Given the description of an element on the screen output the (x, y) to click on. 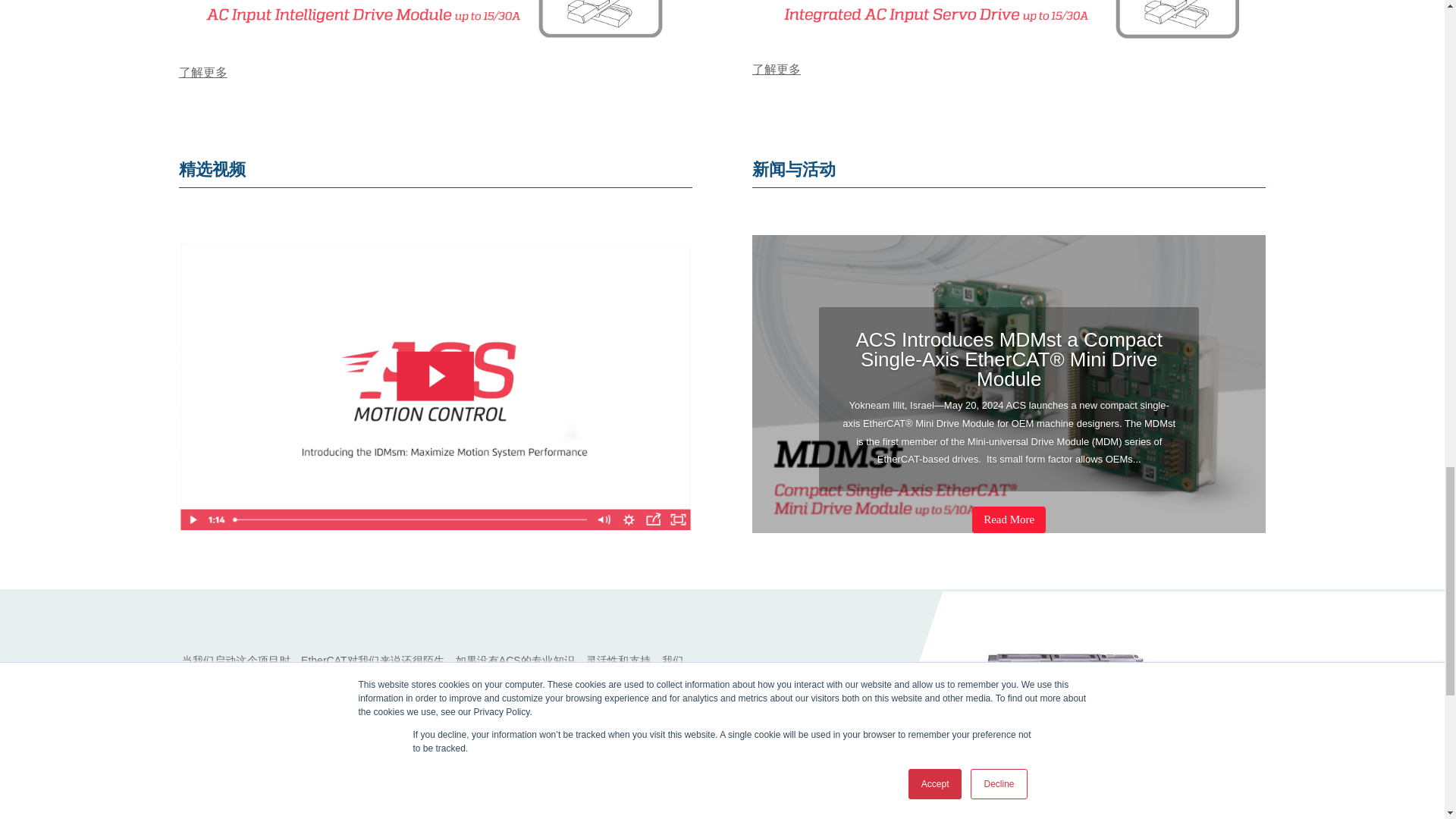
IDMdx-930x539-1-2a (436, 27)
ECMdx-930x539-1-1a (1009, 25)
